Given the description of an element on the screen output the (x, y) to click on. 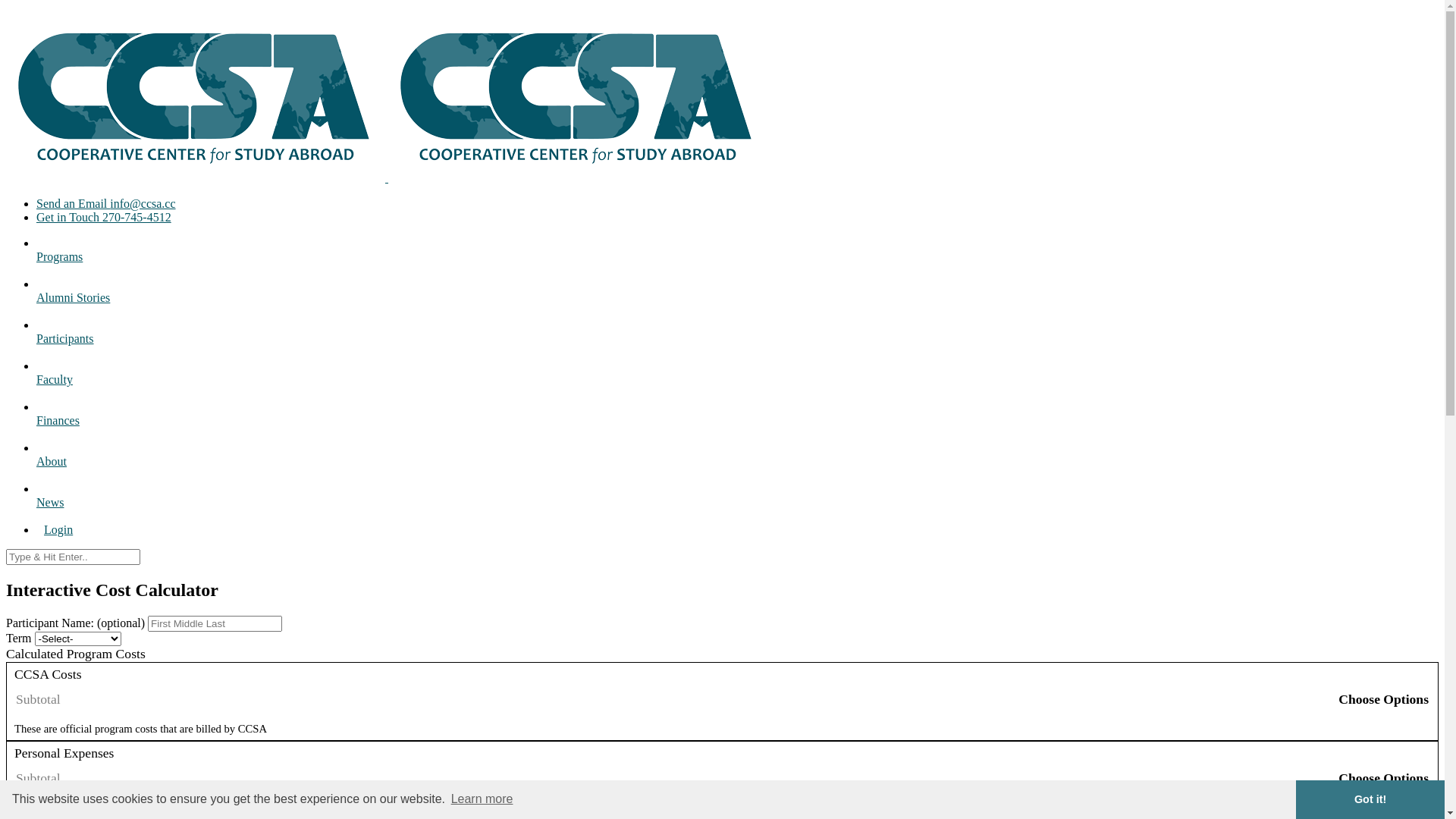
Learn more Element type: text (481, 798)
Login Element type: text (58, 529)
About Element type: text (737, 461)
News Element type: text (737, 502)
Programs Element type: text (737, 256)
Finances Element type: text (737, 420)
Send an Email info@ccsa.cc Element type: text (737, 203)
Alumni Stories Element type: text (737, 297)
Participants Element type: text (737, 338)
Faculty Element type: text (737, 379)
Get in Touch 270-745-4512 Element type: text (737, 217)
